Given the description of an element on the screen output the (x, y) to click on. 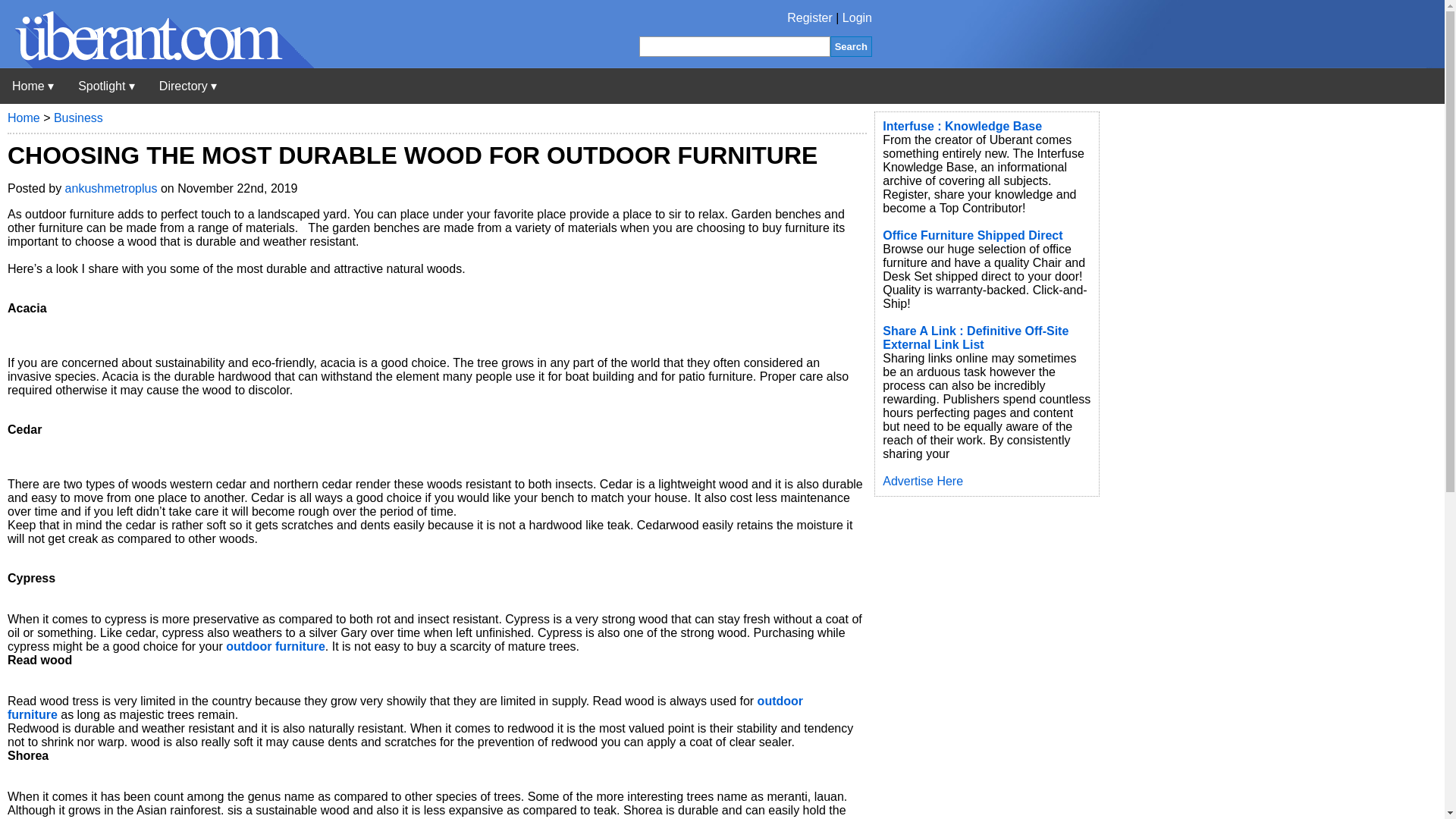
Uberant (157, 63)
Search (850, 46)
Register (809, 17)
Login (857, 17)
Search (850, 46)
Uberant (32, 85)
